Given the description of an element on the screen output the (x, y) to click on. 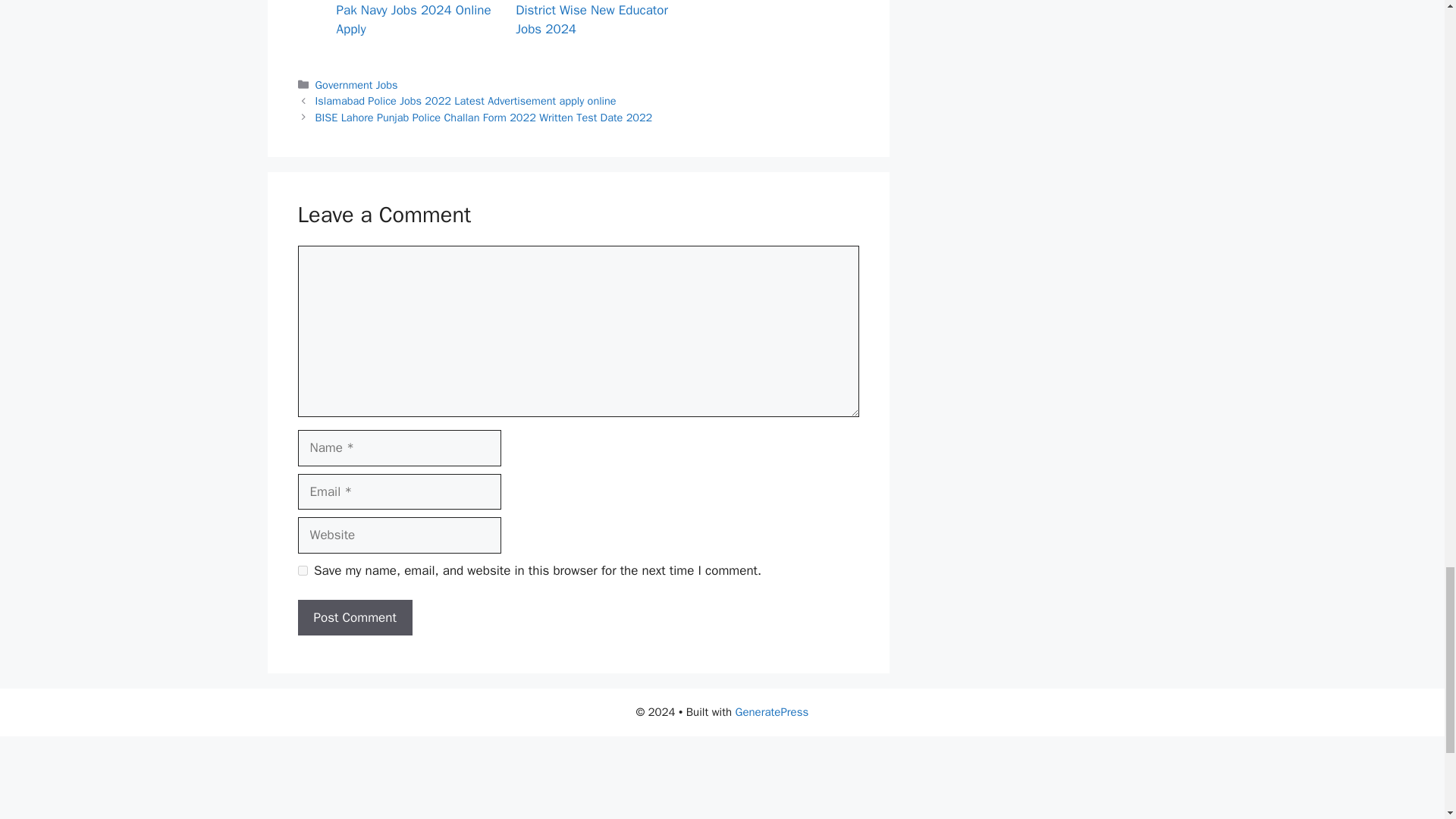
Islamabad Police Jobs 2022 Latest Advertisement apply online (465, 100)
GeneratePress (772, 712)
Post Comment (354, 617)
Government Jobs (356, 84)
Join Pak Navy Jobs 2024 Pak Navy Jobs 2024 Online Apply (414, 18)
yes (302, 570)
Post Comment (354, 617)
